Given the description of an element on the screen output the (x, y) to click on. 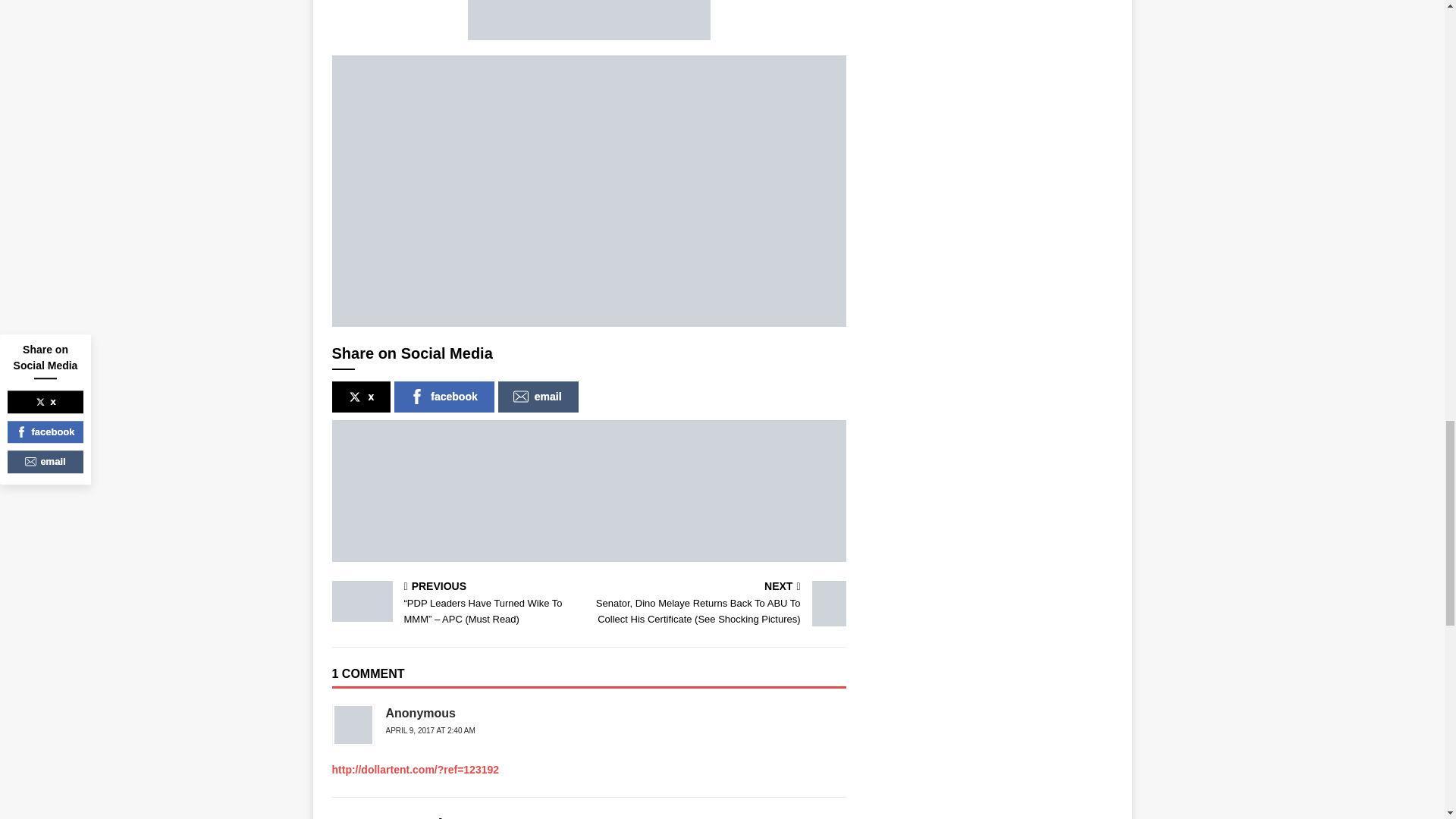
email (537, 396)
x (361, 396)
facebook (443, 396)
APRIL 9, 2017 AT 2:40 AM (429, 730)
